Given the description of an element on the screen output the (x, y) to click on. 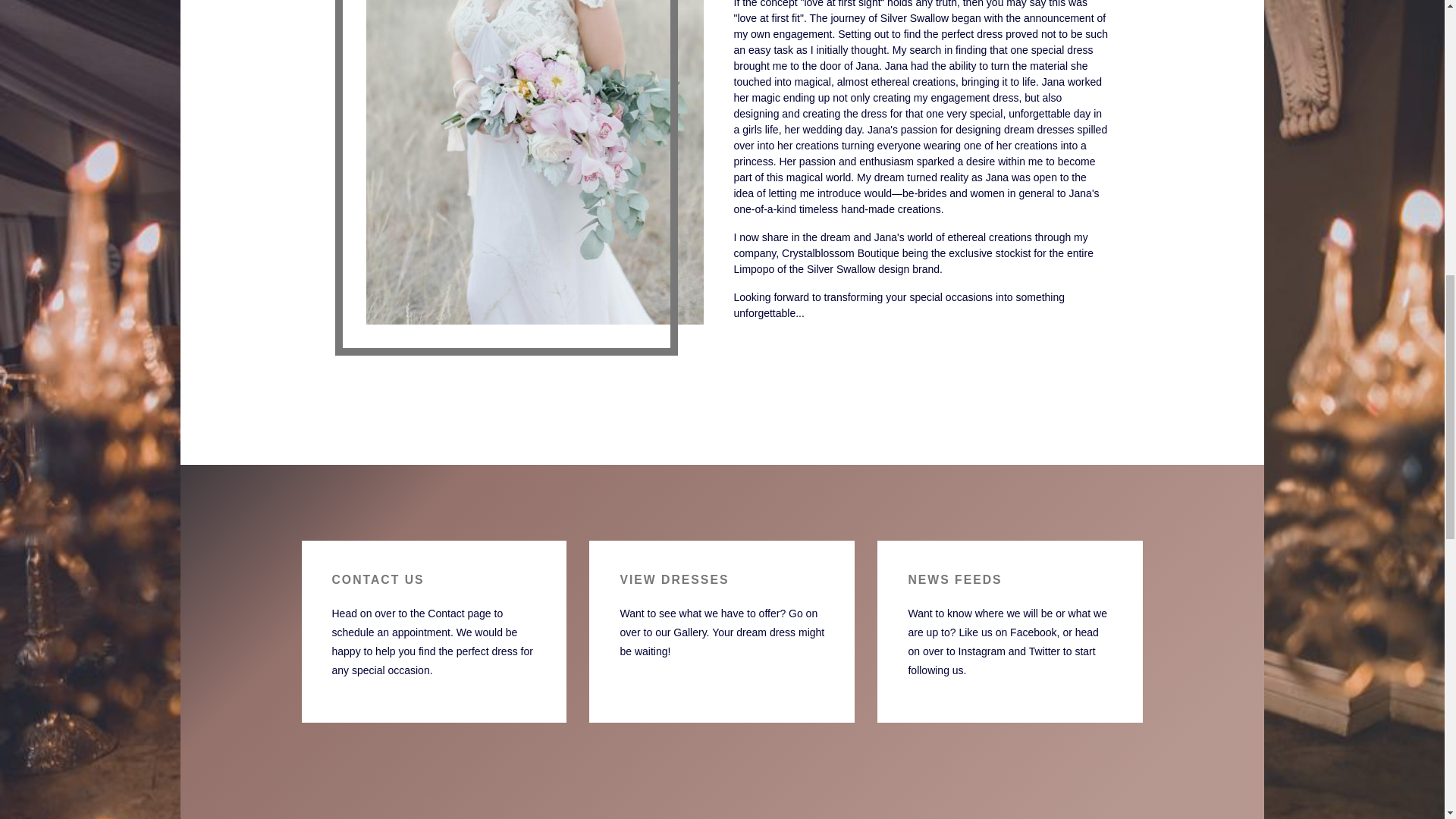
CONTACT US (378, 579)
NEWS FEEDS (954, 579)
VIEW DRESSES (674, 579)
